Given the description of an element on the screen output the (x, y) to click on. 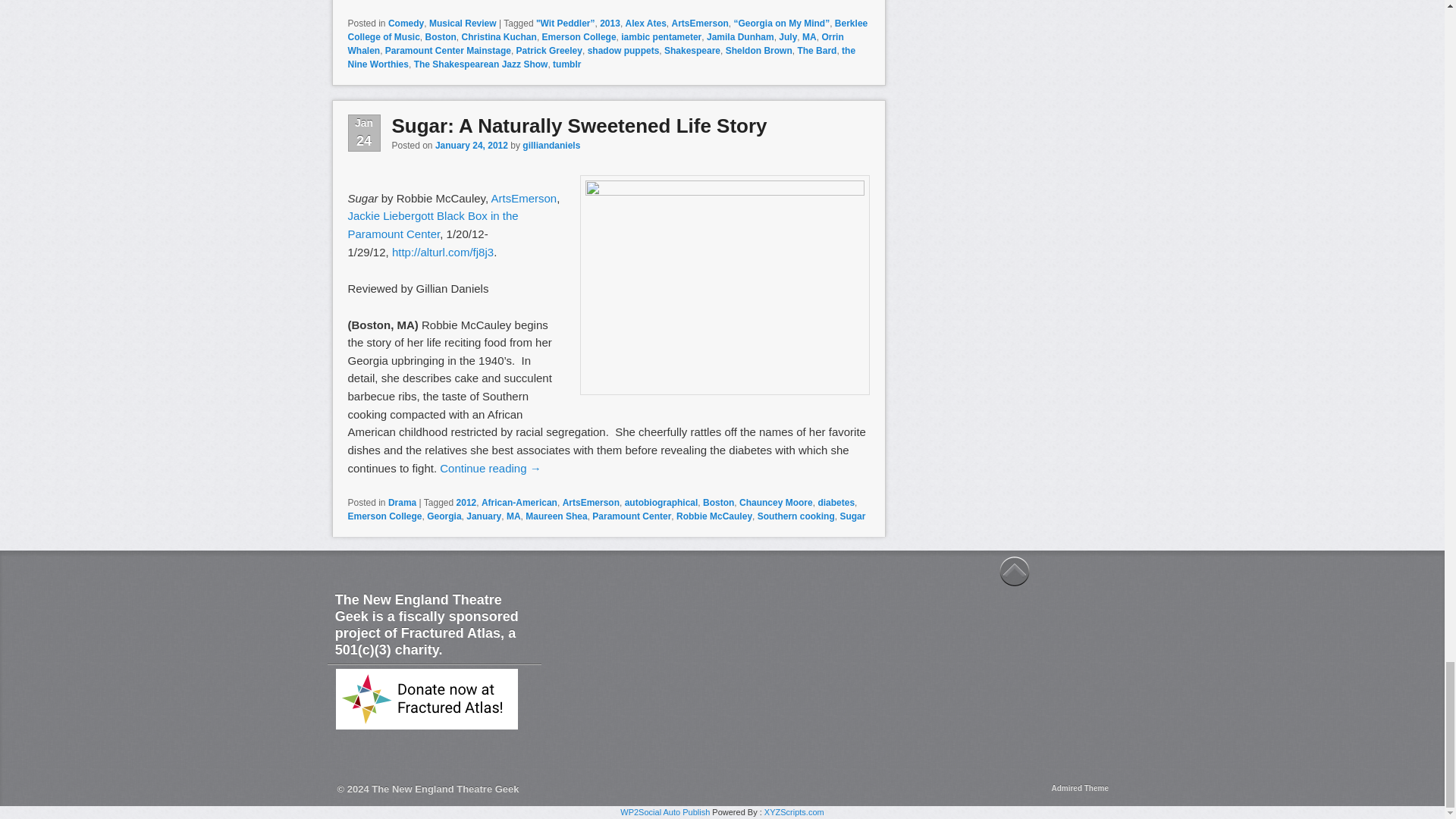
View all posts by gilliandaniels (550, 145)
3:09 am (471, 145)
Permalink to Sugar: A Naturally Sweetened Life Story (579, 125)
